Given the description of an element on the screen output the (x, y) to click on. 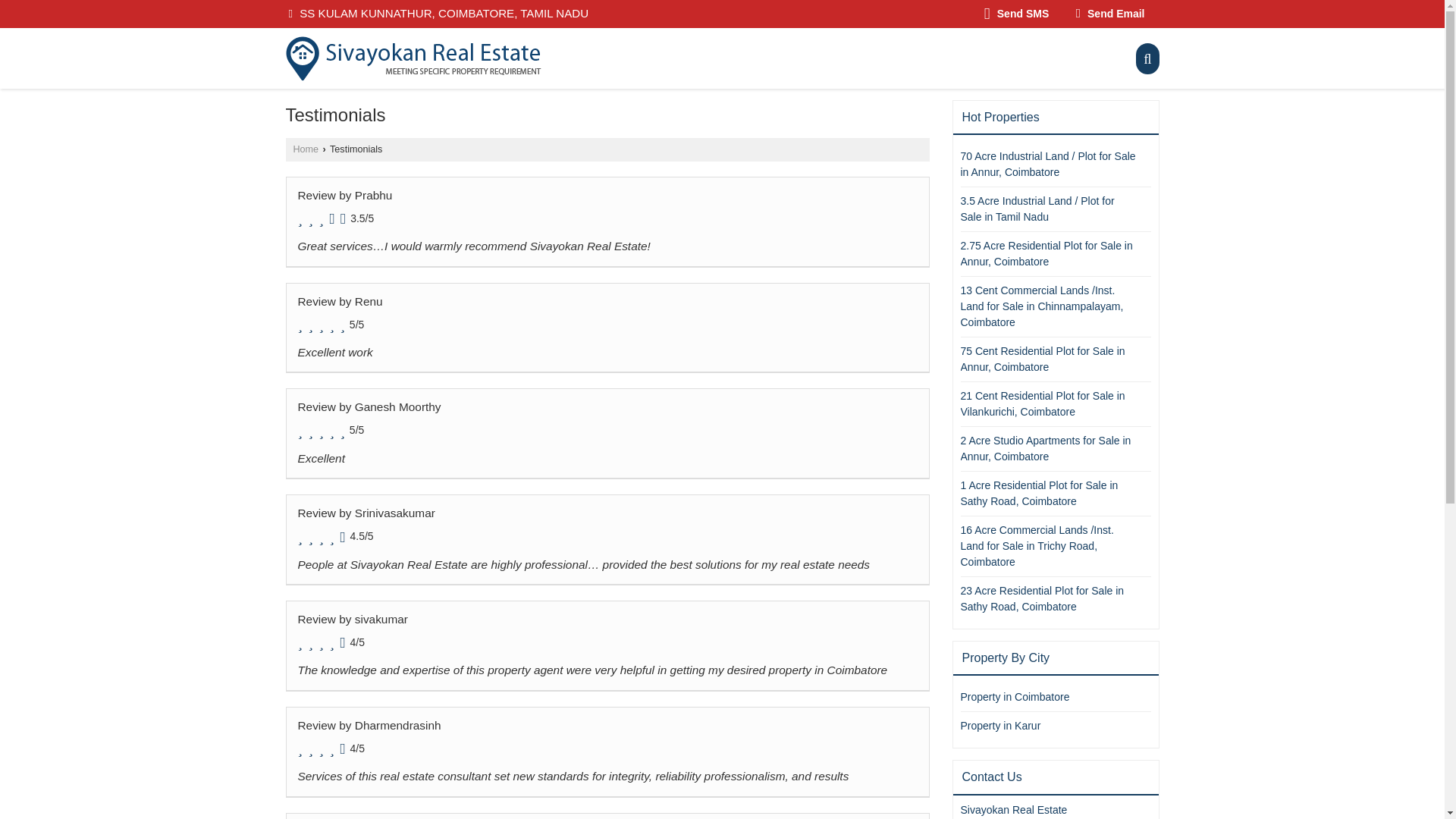
Send SMS (1015, 14)
Sivayokan Real Estate (412, 58)
Send Email (1110, 14)
Home (305, 149)
